Given the description of an element on the screen output the (x, y) to click on. 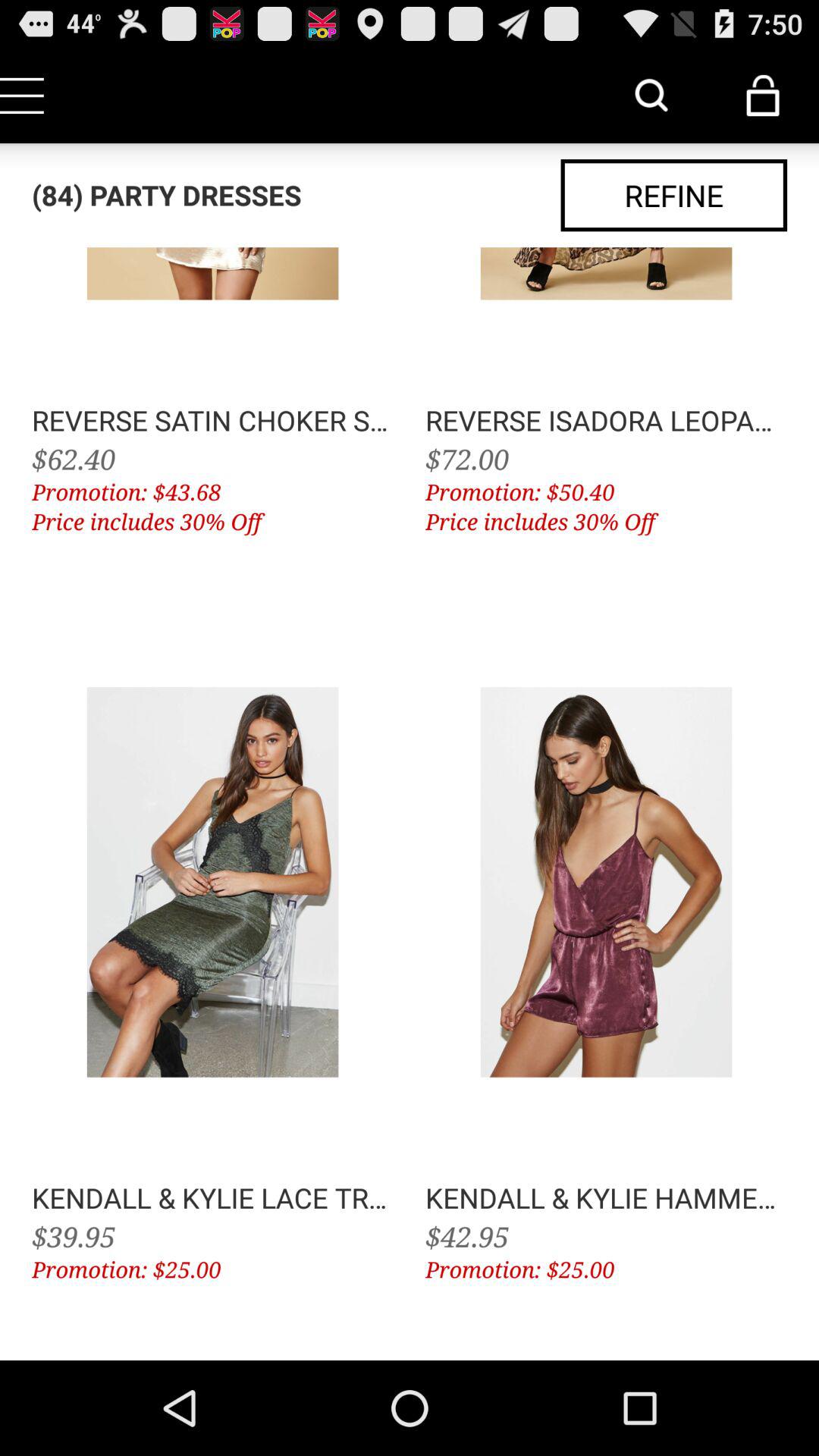
launch refine (673, 195)
